Given the description of an element on the screen output the (x, y) to click on. 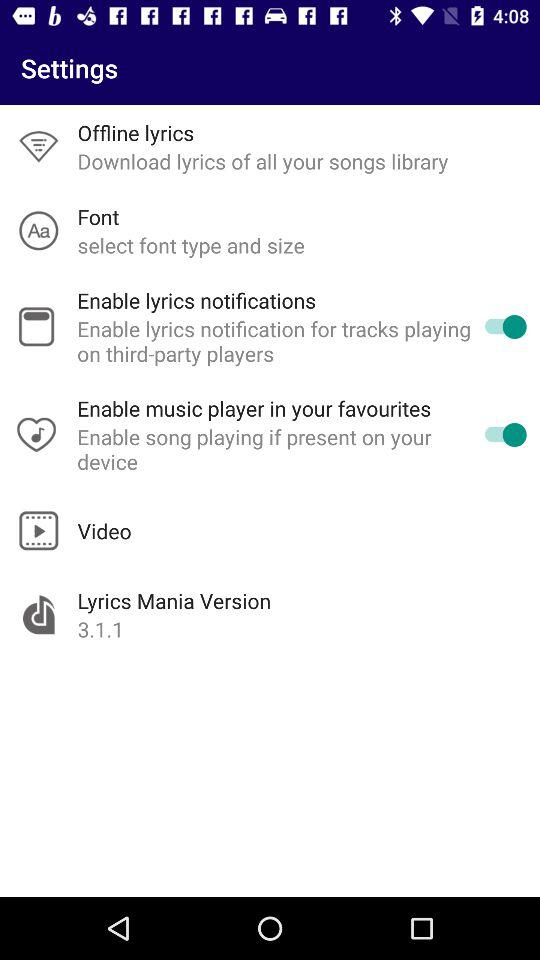
click the select font type icon (190, 244)
